Given the description of an element on the screen output the (x, y) to click on. 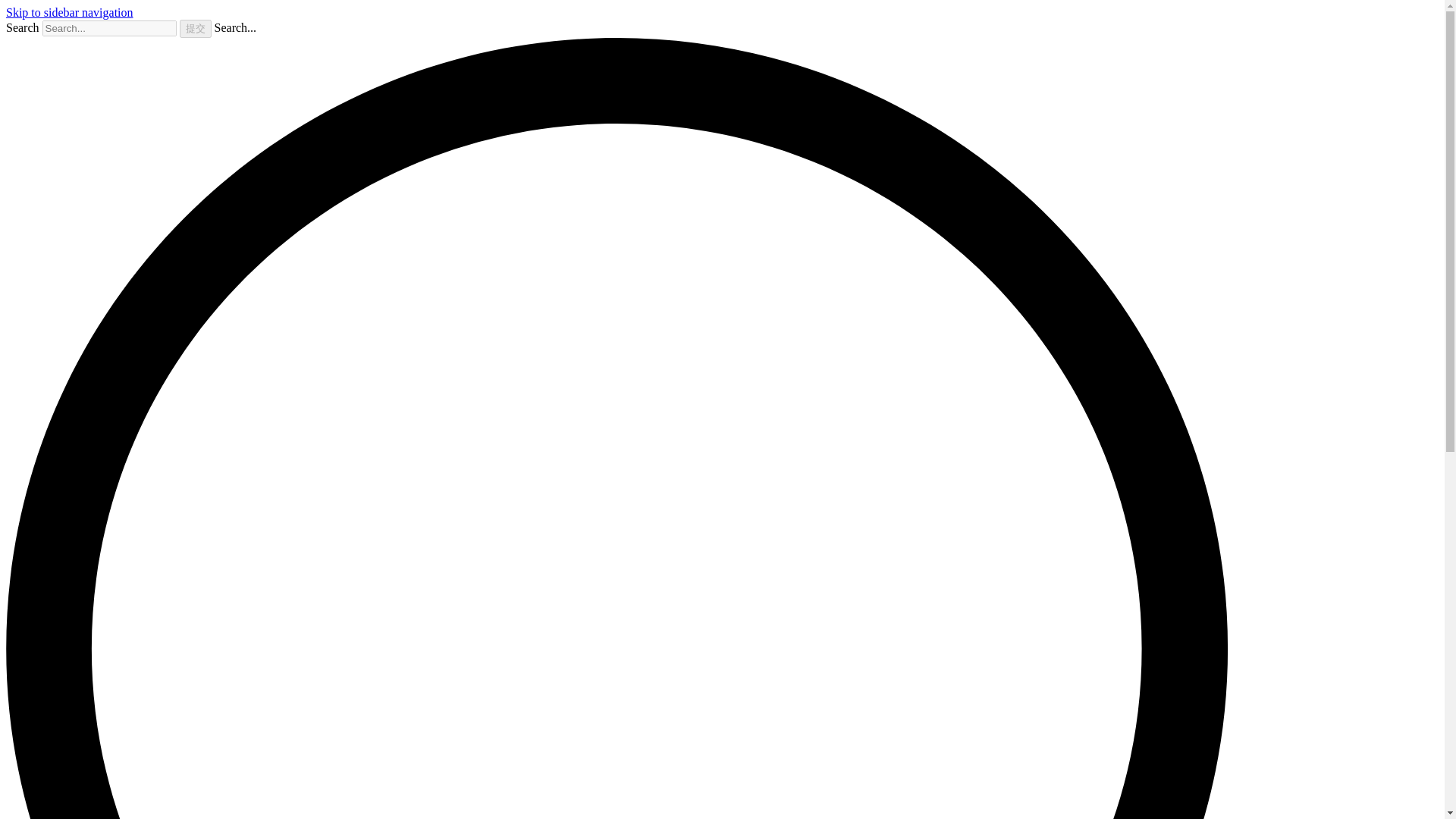
Skip to sidebar navigation (69, 11)
